Given the description of an element on the screen output the (x, y) to click on. 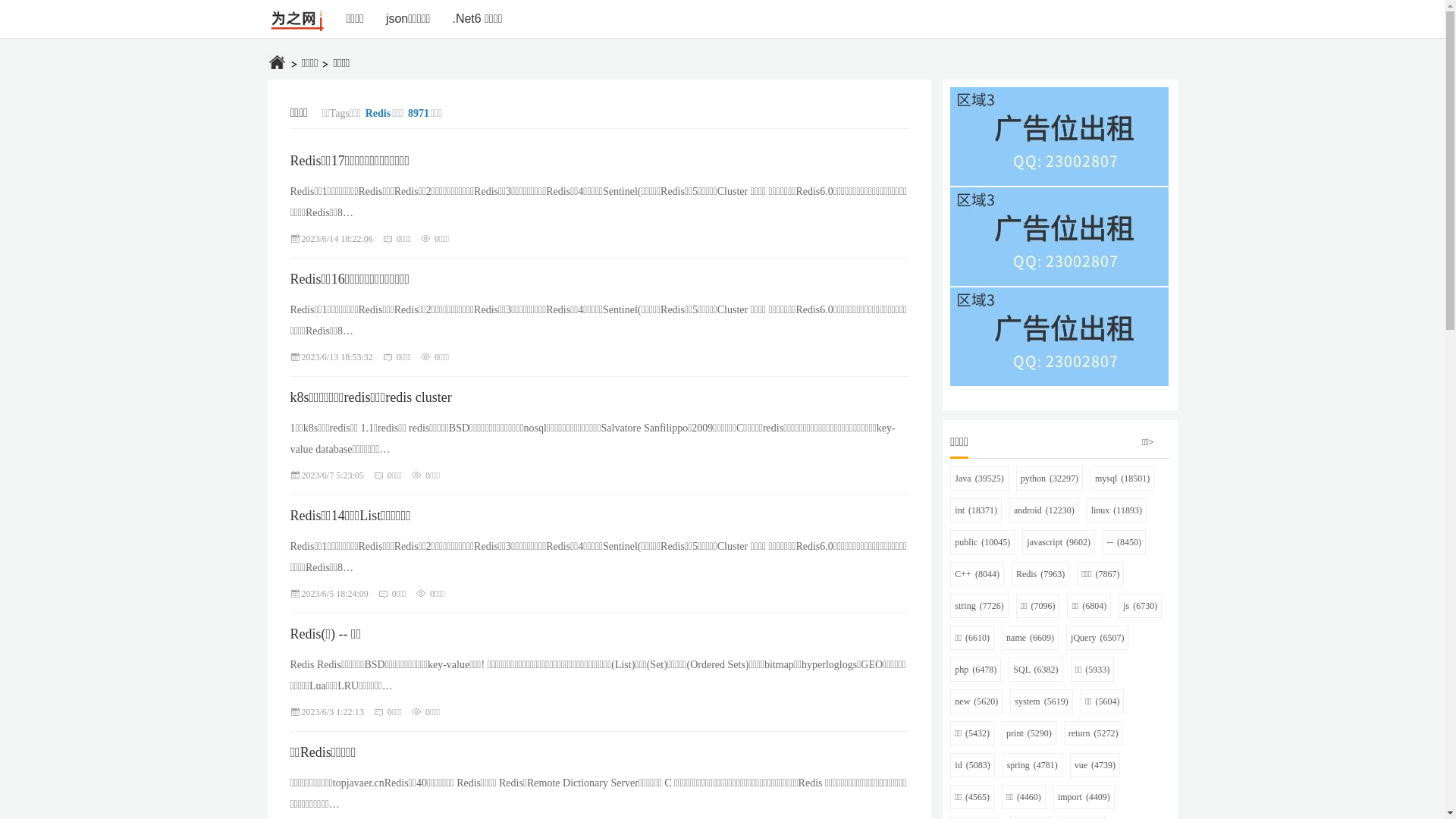
jQuery (6507) Element type: text (1097, 637)
return (5272) Element type: text (1093, 733)
system (5619) Element type: text (1041, 701)
spring (4781) Element type: text (1032, 765)
js (6730) Element type: text (1139, 605)
mysql (18501) Element type: text (1122, 478)
SQL (6382) Element type: text (1035, 669)
import (4409) Element type: text (1083, 796)
python (32297) Element type: text (1049, 478)
javascript (9602) Element type: text (1058, 542)
int (18371) Element type: text (975, 510)
vue (4739) Element type: text (1095, 765)
string (7726) Element type: text (978, 605)
new (5620) Element type: text (976, 701)
-- (8450) Element type: text (1123, 542)
linux (11893) Element type: text (1116, 510)
Java (39525) Element type: text (978, 478)
C++ (8044) Element type: text (977, 573)
id (5083) Element type: text (972, 765)
222 Element type: hover (1059, 277)
php (6478) Element type: text (975, 669)
android (12230) Element type: text (1044, 510)
Redis (7963) Element type: text (1040, 573)
name (6609) Element type: text (1029, 637)
public (10045) Element type: text (982, 542)
print (5290) Element type: text (1028, 733)
333 Element type: hover (1059, 377)
